Given the description of an element on the screen output the (x, y) to click on. 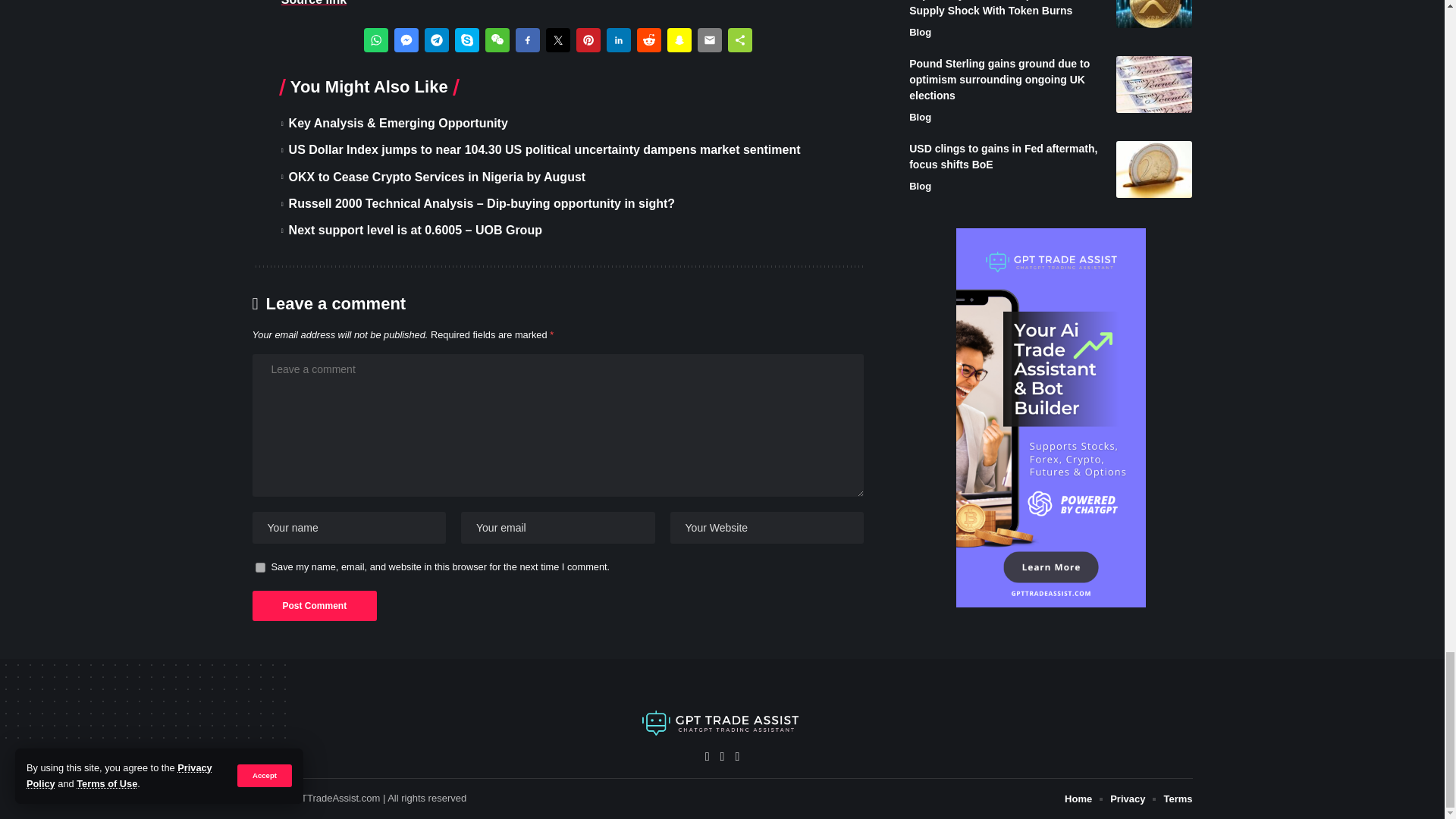
yes (259, 567)
Post Comment (314, 605)
